Given the description of an element on the screen output the (x, y) to click on. 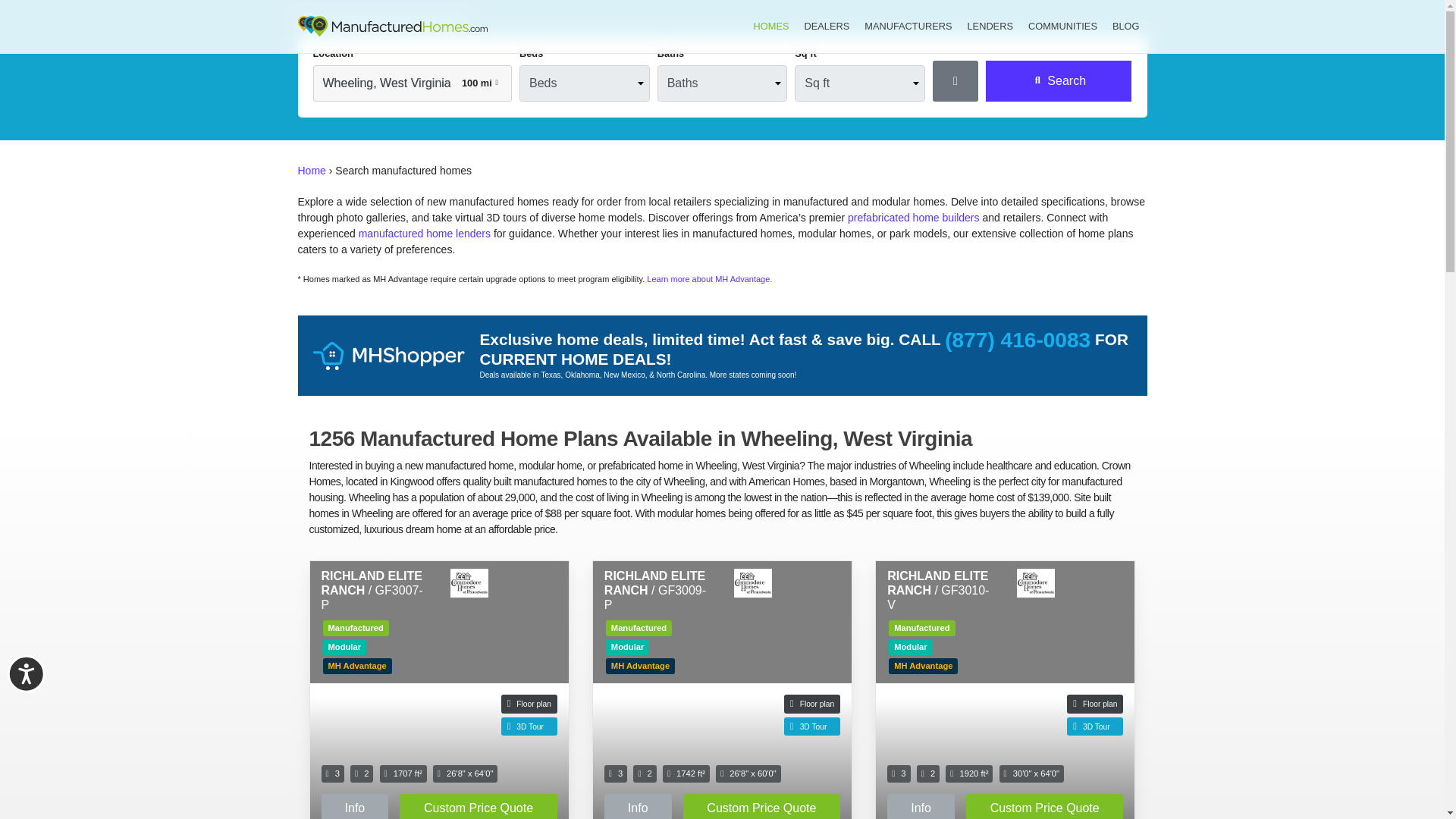
manufactured home lenders (424, 233)
MANUFACTURERS (908, 26)
Info (354, 806)
More search options (955, 80)
Custom Price Quote (477, 806)
prefabricated home builders (913, 217)
LENDERS (989, 26)
100 mi (480, 82)
Search (1058, 80)
HOMES (770, 26)
